Given the description of an element on the screen output the (x, y) to click on. 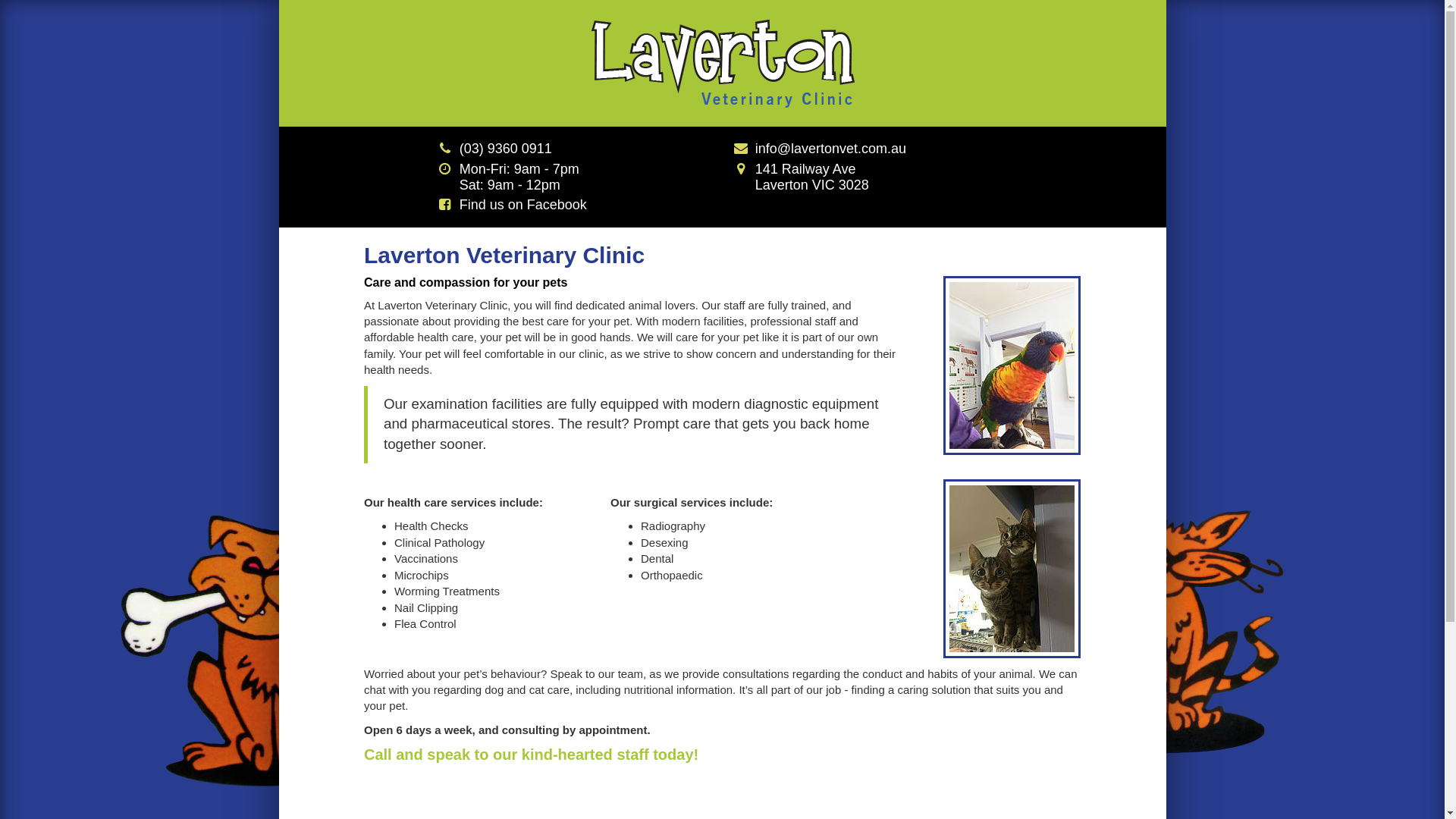
info@lavertonvet.com.au Element type: text (830, 148)
141 Railway Ave
Laverton VIC 3028 Element type: text (801, 176)
Find us on Facebook Element type: text (522, 204)
(03) 9360 0911 Element type: text (505, 148)
